Given the description of an element on the screen output the (x, y) to click on. 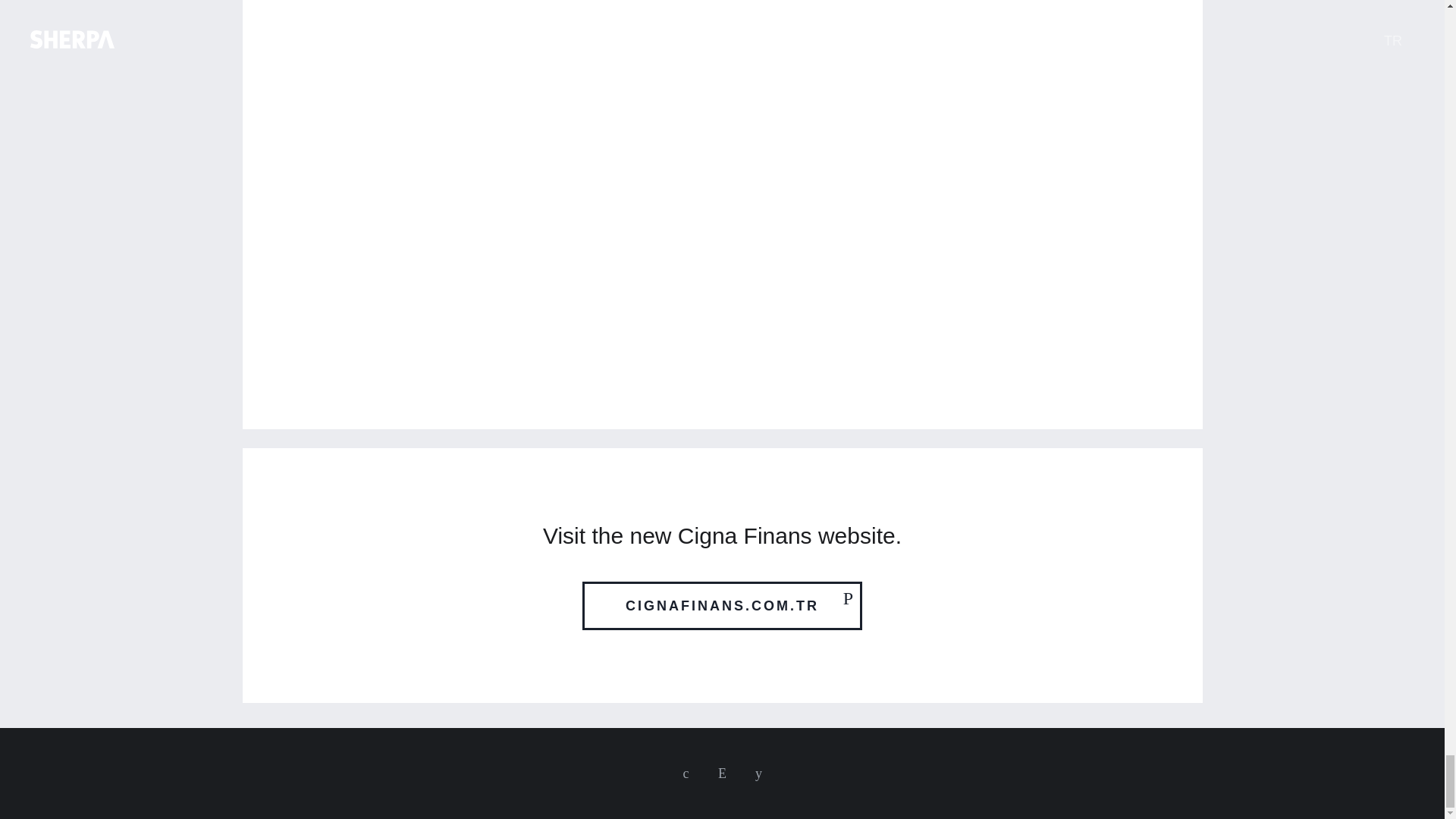
CIGNAFINANS.COM.TR (721, 605)
